Given the description of an element on the screen output the (x, y) to click on. 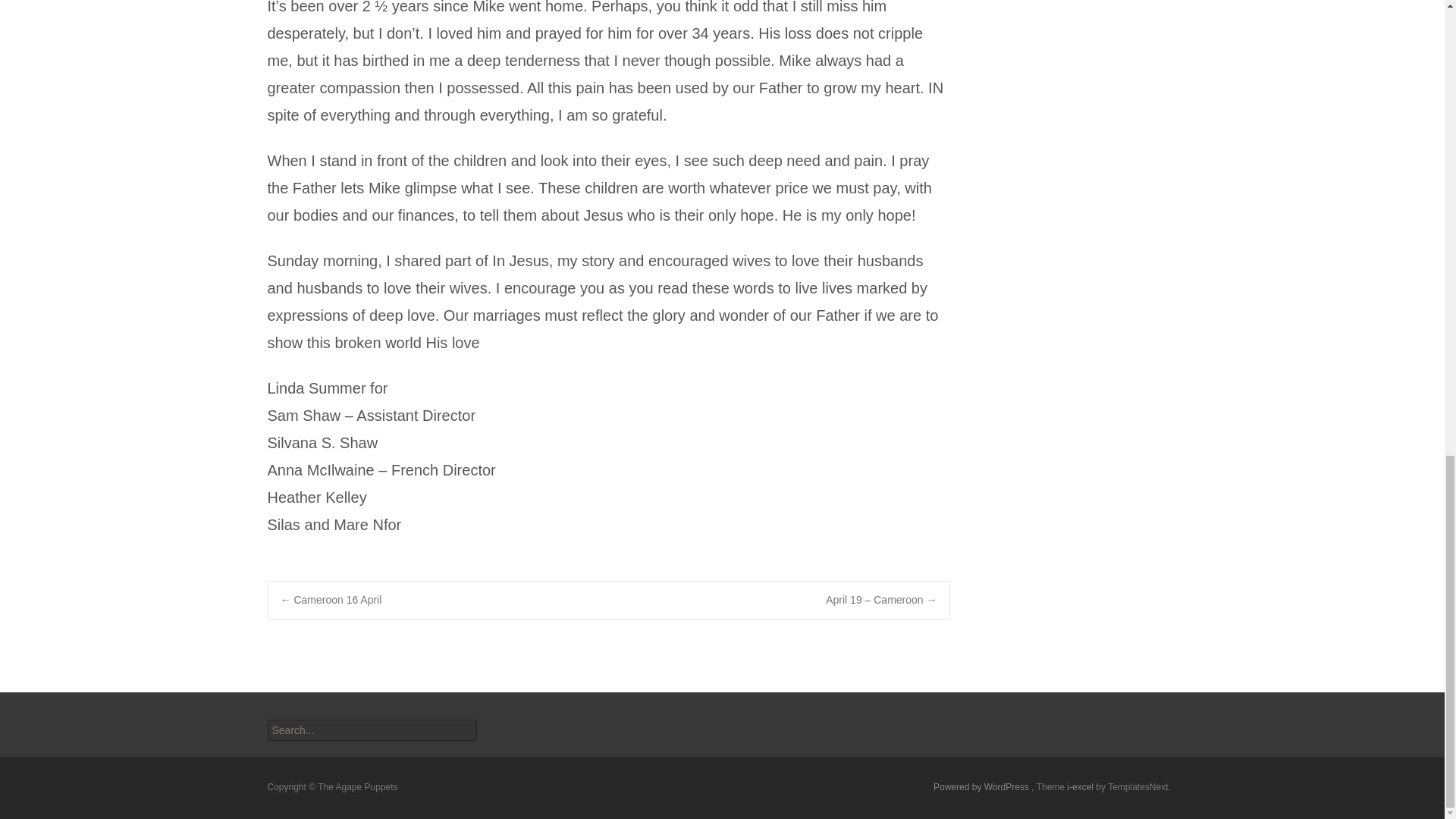
i-excel (1081, 787)
Semantic Personal Publishing Platform (981, 787)
Multipurpose Business WooCommerce Theme (1081, 787)
Powered by WordPress (981, 787)
Search for: (371, 730)
